Given the description of an element on the screen output the (x, y) to click on. 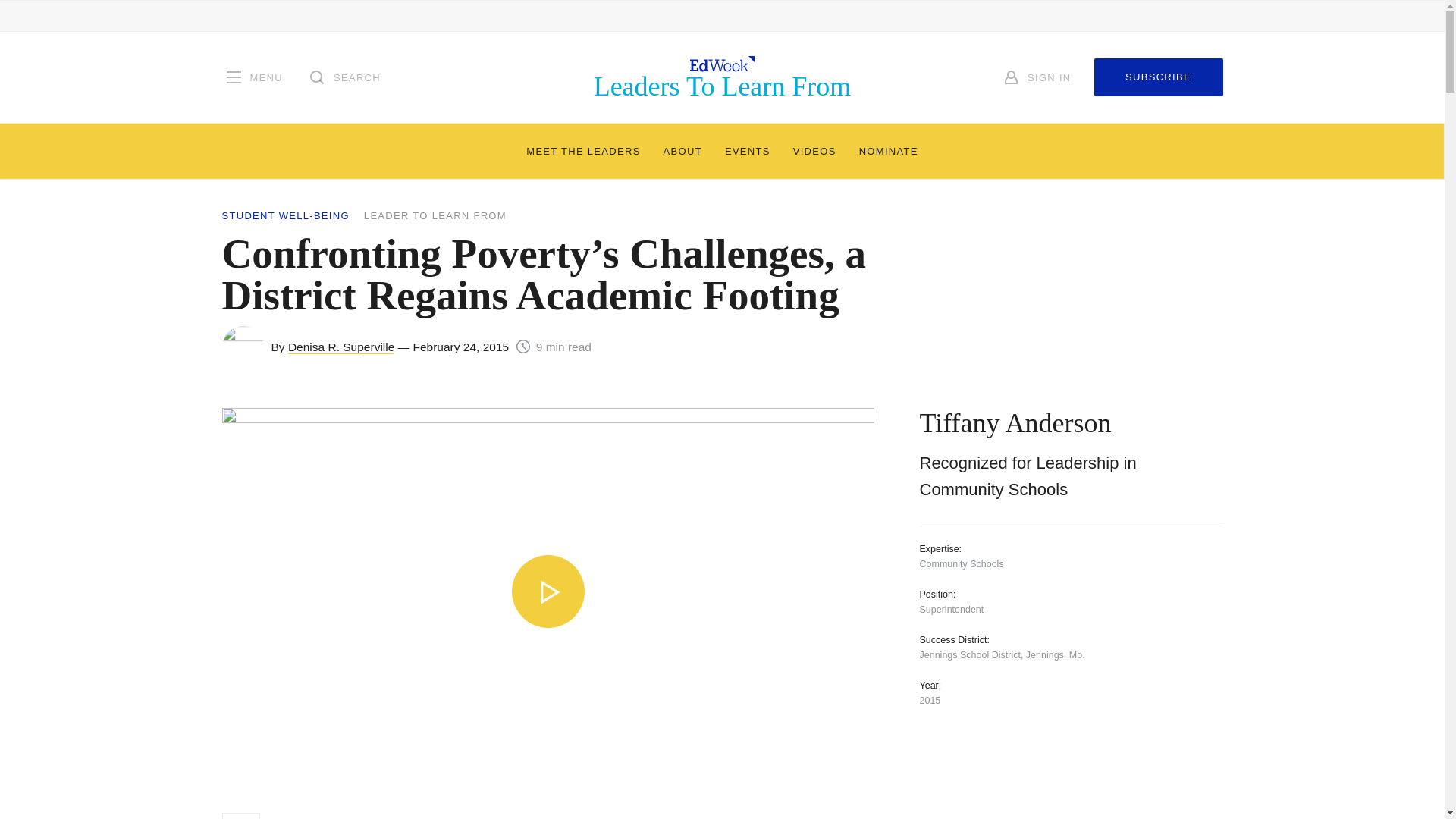
Homepage (722, 76)
